Given the description of an element on the screen output the (x, y) to click on. 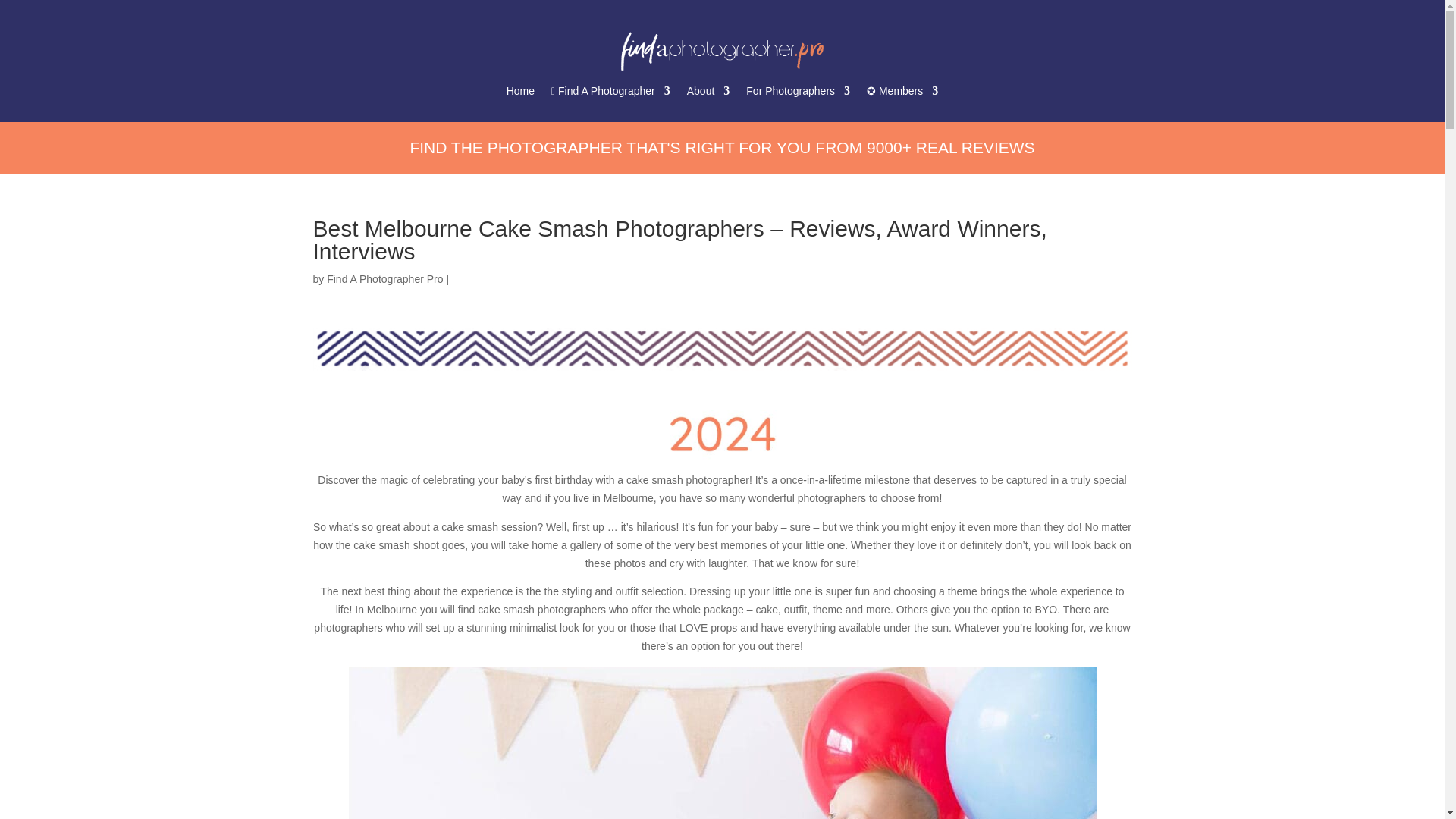
FAP Pro Logo White Orange 450px (721, 51)
For Photographers (797, 93)
Find A Photographer Pro (384, 278)
Home (520, 93)
Posts by Find A Photographer Pro (384, 278)
About (708, 93)
